Given the description of an element on the screen output the (x, y) to click on. 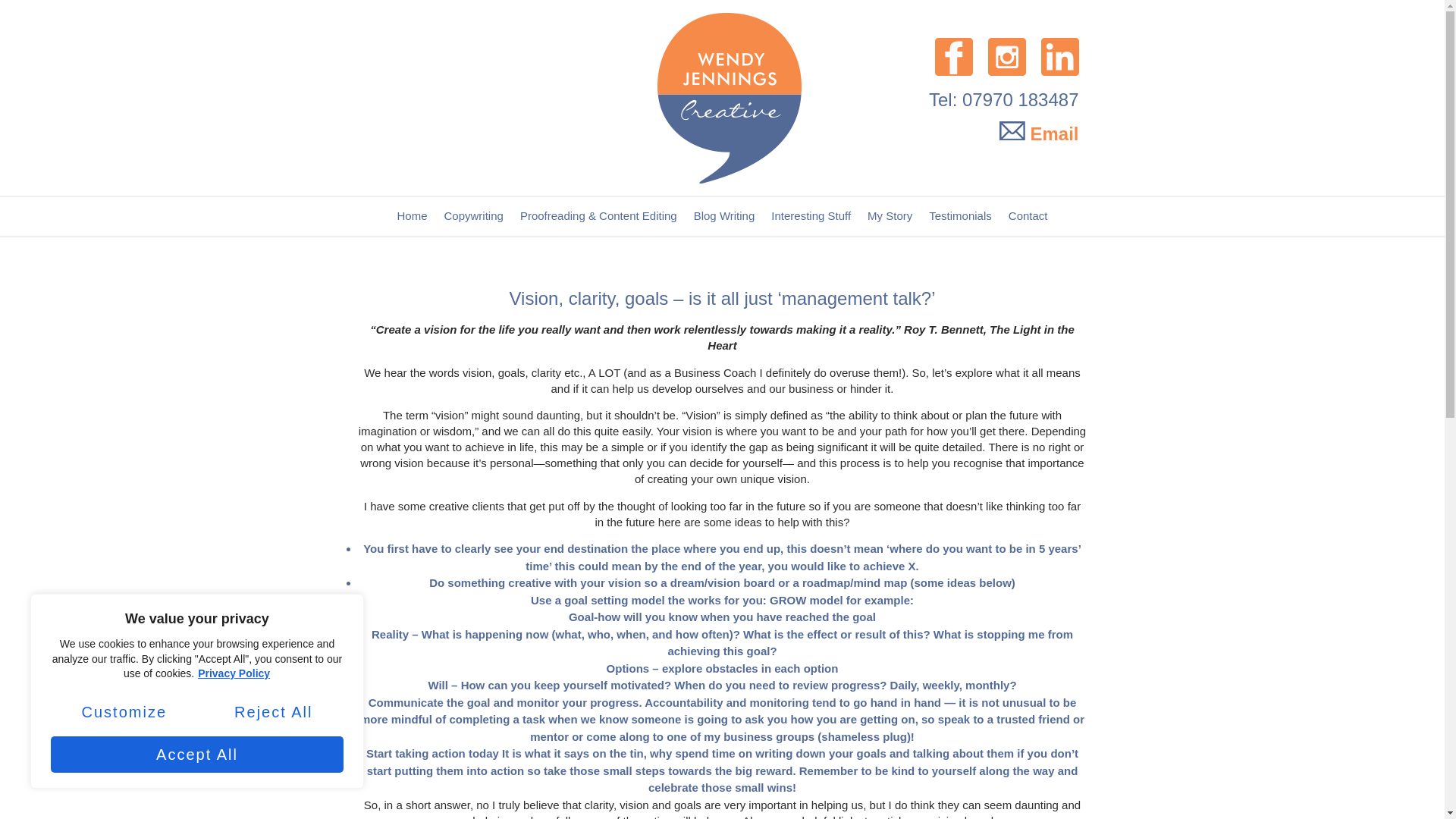
Privacy Policy (233, 673)
Reject All (273, 711)
Customize (124, 711)
Email (1038, 133)
Accept All (196, 754)
Home (411, 216)
Email Wendy Jennings Creative Today (1038, 133)
Wendy Jennings Creative (579, 97)
